Given the description of an element on the screen output the (x, y) to click on. 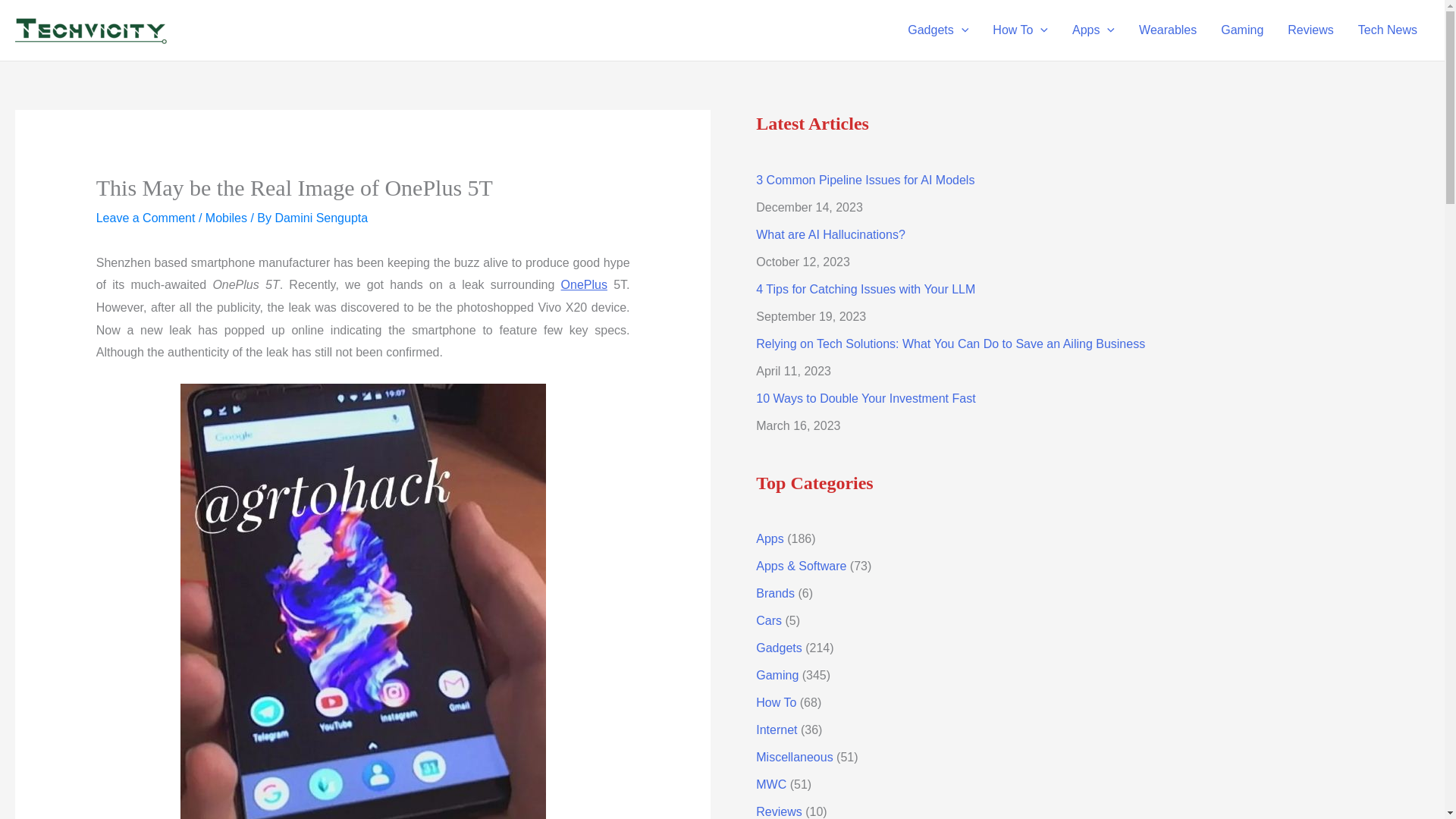
How To (1019, 30)
Tech News (1387, 30)
Apps (1092, 30)
View all posts by Damini Sengupta (321, 217)
Gadgets (937, 30)
Gaming (1241, 30)
Wearables (1167, 30)
Reviews (1310, 30)
